Given the description of an element on the screen output the (x, y) to click on. 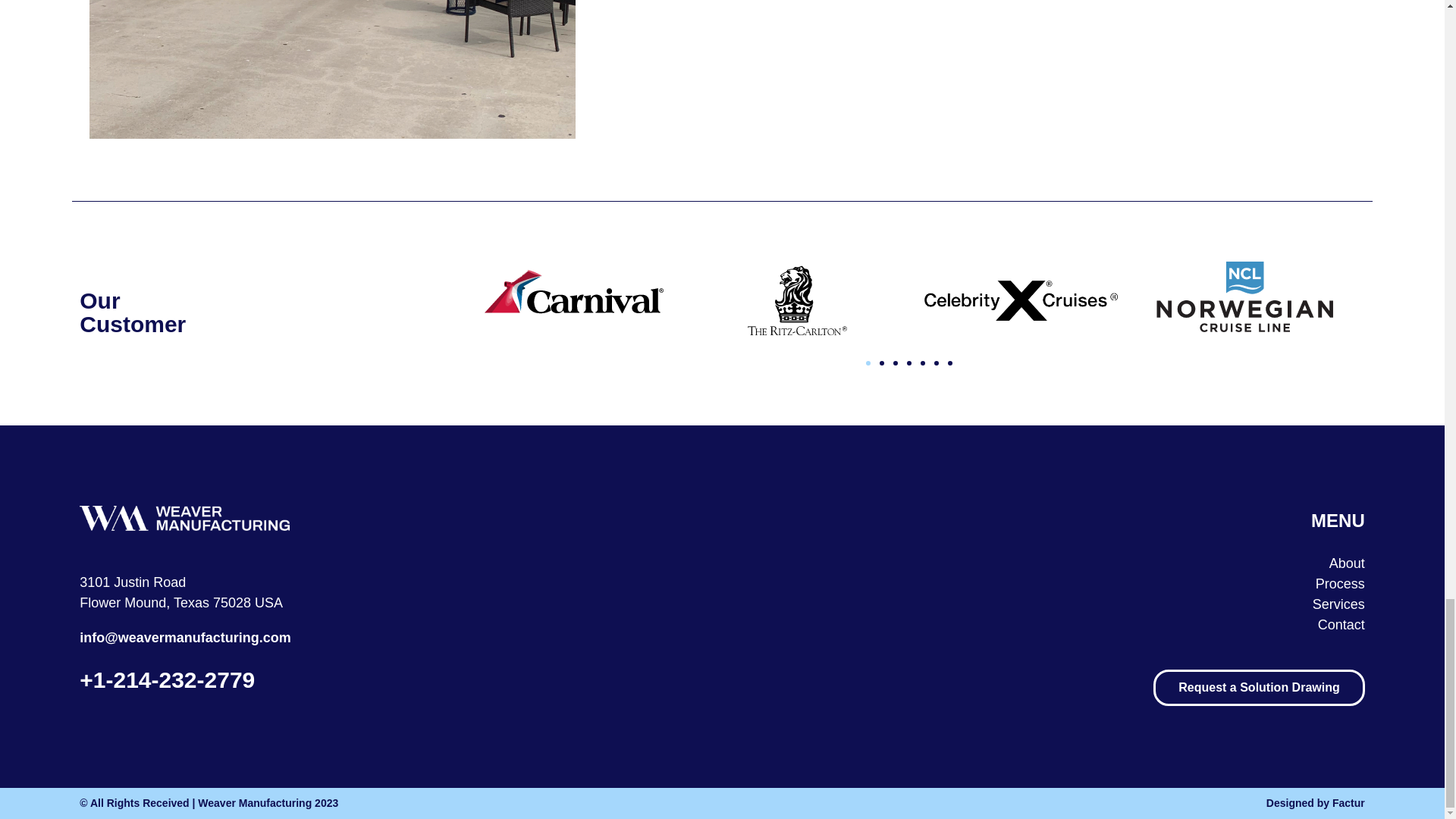
Request a Solution Drawing (1258, 687)
Process (917, 584)
About (917, 563)
3101 Justin Road (133, 581)
Flower Mound, Texas 75028 USA (181, 602)
Services (917, 604)
Contact (917, 625)
Designed by Factur (1046, 803)
